Given the description of an element on the screen output the (x, y) to click on. 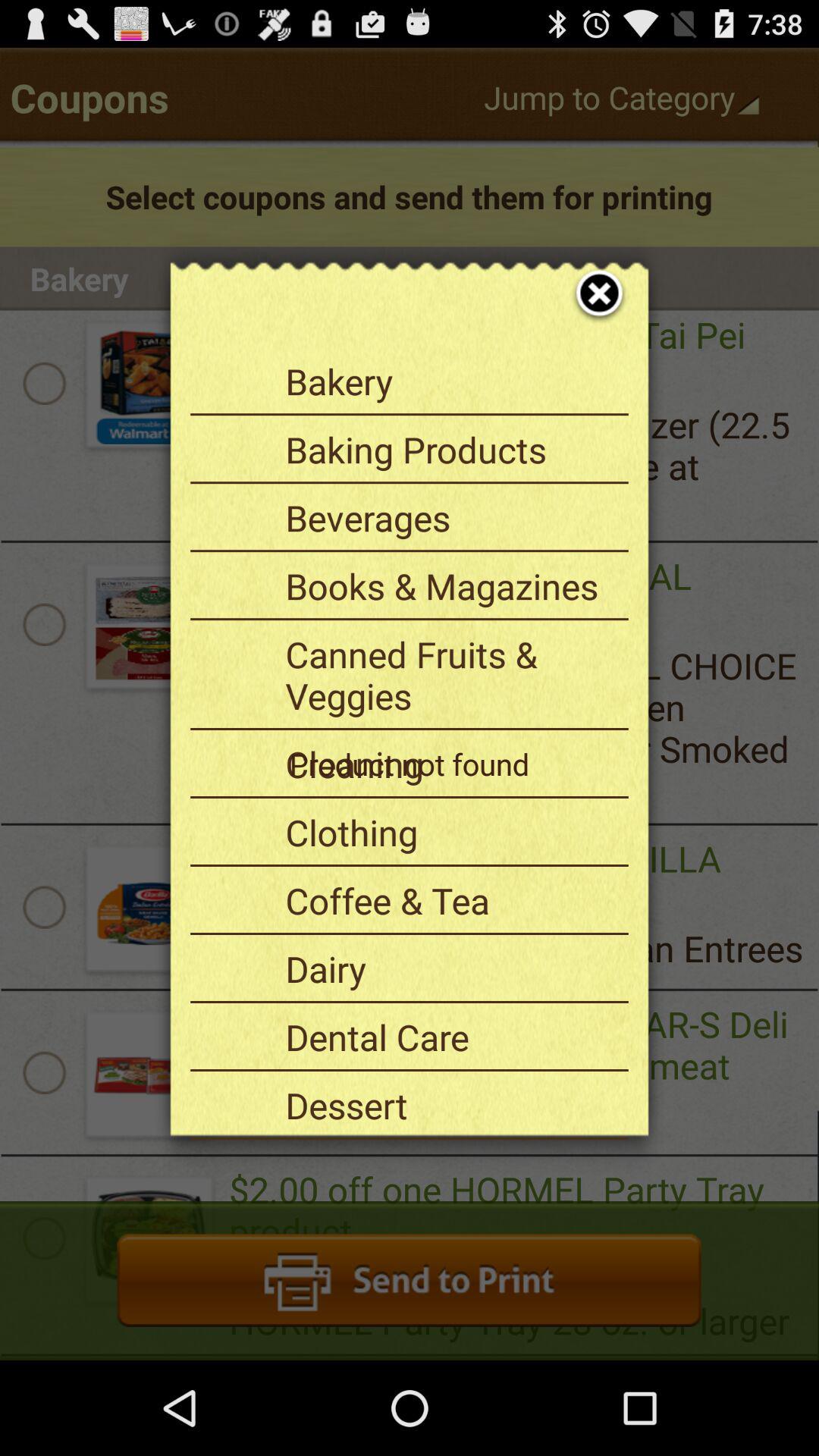
scroll to the beverages item (451, 517)
